Given the description of an element on the screen output the (x, y) to click on. 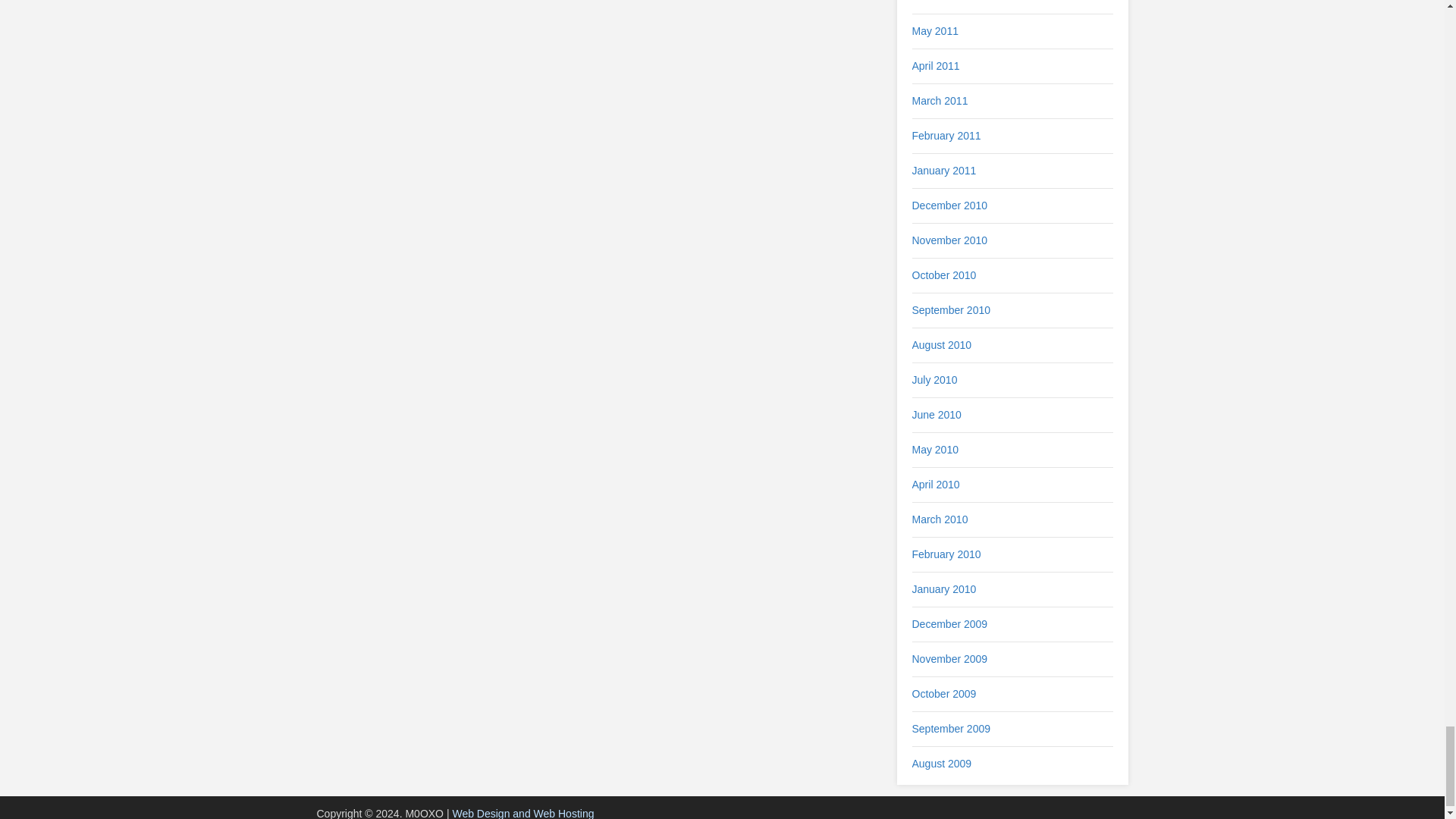
BarclayJames Web Design (522, 813)
